Given the description of an element on the screen output the (x, y) to click on. 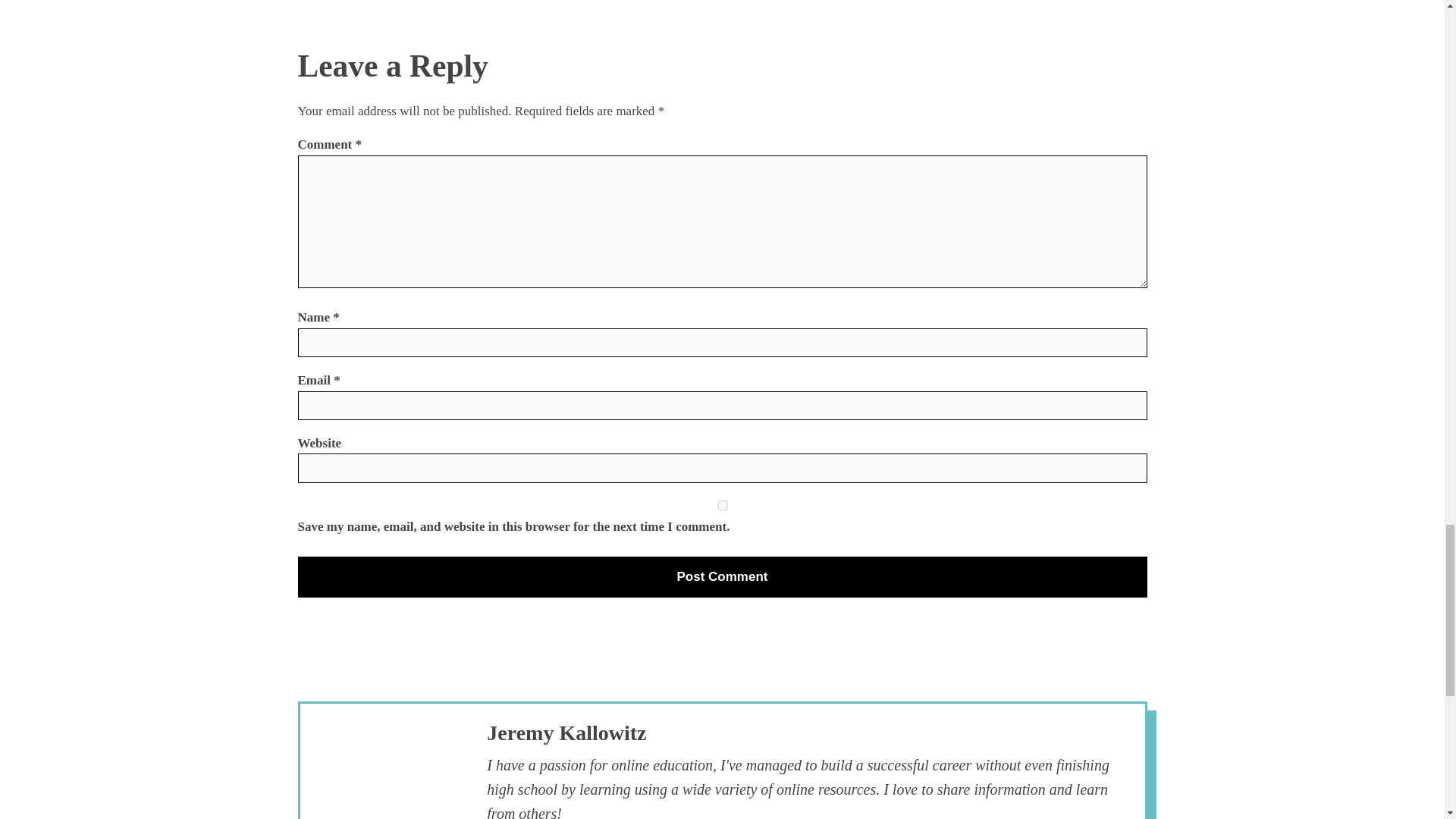
Post Comment (722, 576)
yes (722, 505)
Post Comment (722, 576)
